Given the description of an element on the screen output the (x, y) to click on. 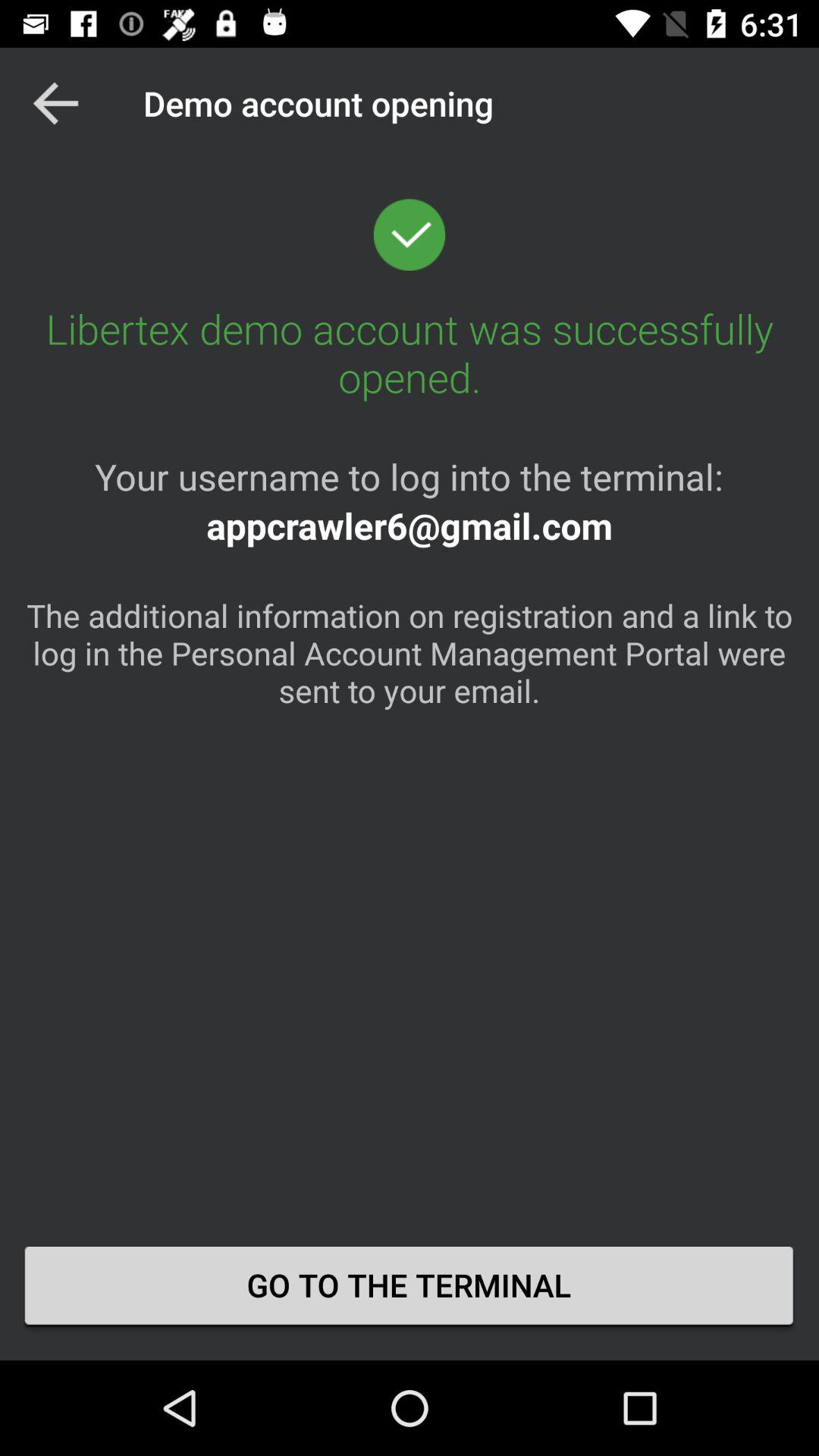
choose the app to the left of the demo account opening app (55, 103)
